Given the description of an element on the screen output the (x, y) to click on. 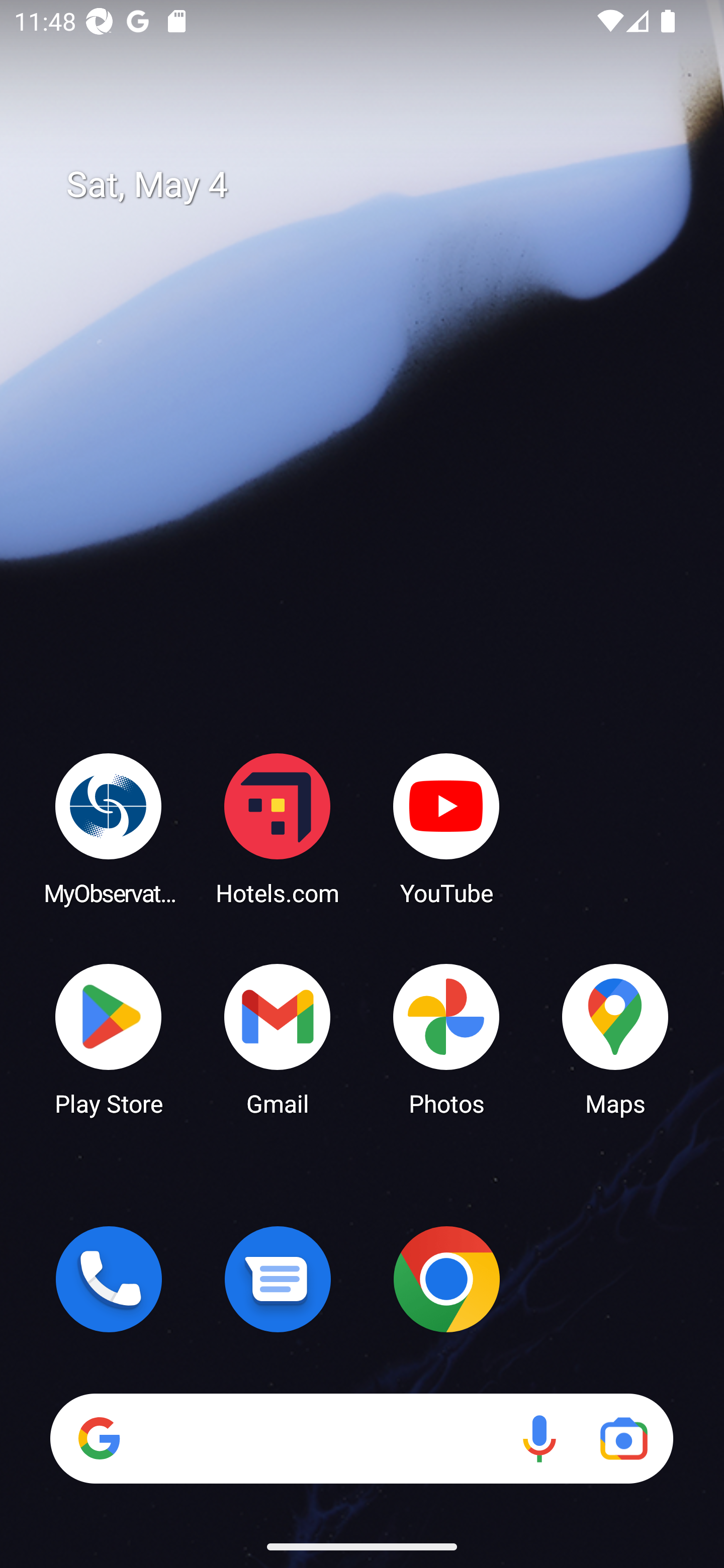
Sat, May 4 (375, 184)
MyObservatory (108, 828)
Hotels.com (277, 828)
YouTube (445, 828)
Play Store (108, 1038)
Gmail (277, 1038)
Photos (445, 1038)
Maps (615, 1038)
Phone (108, 1279)
Messages (277, 1279)
Chrome (446, 1279)
Search Voice search Google Lens (361, 1438)
Voice search (539, 1438)
Google Lens (623, 1438)
